Given the description of an element on the screen output the (x, y) to click on. 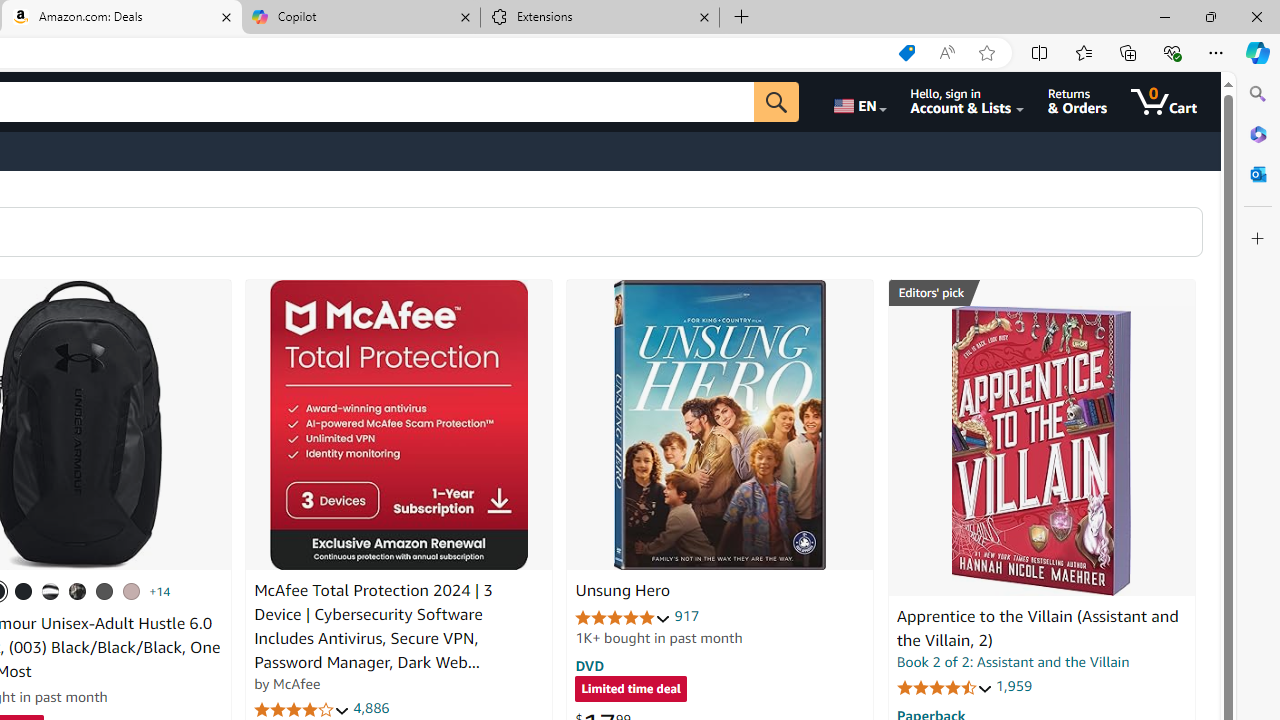
Unsung Hero (720, 425)
Returns & Orders (1077, 101)
Extensions (600, 17)
Copilot (360, 17)
DVD (589, 665)
(001) Black / Black / Metallic Gold (24, 591)
4.6 out of 5 stars (944, 686)
0 items in cart (1163, 101)
Hello, sign in Account & Lists (967, 101)
